Given the description of an element on the screen output the (x, y) to click on. 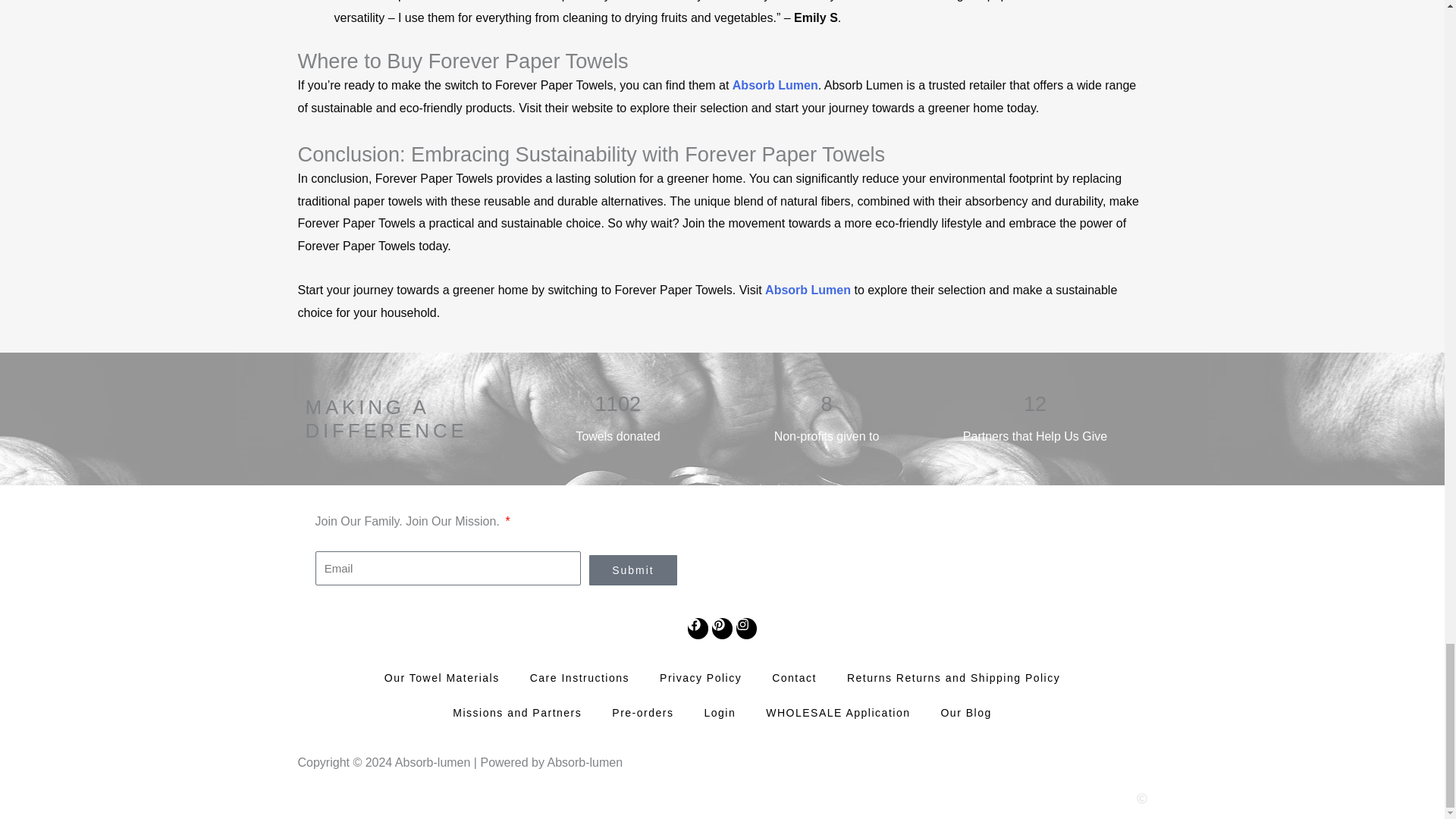
Submit (633, 570)
Absorb Lumen (775, 84)
Absorb Lumen (807, 289)
